Given the description of an element on the screen output the (x, y) to click on. 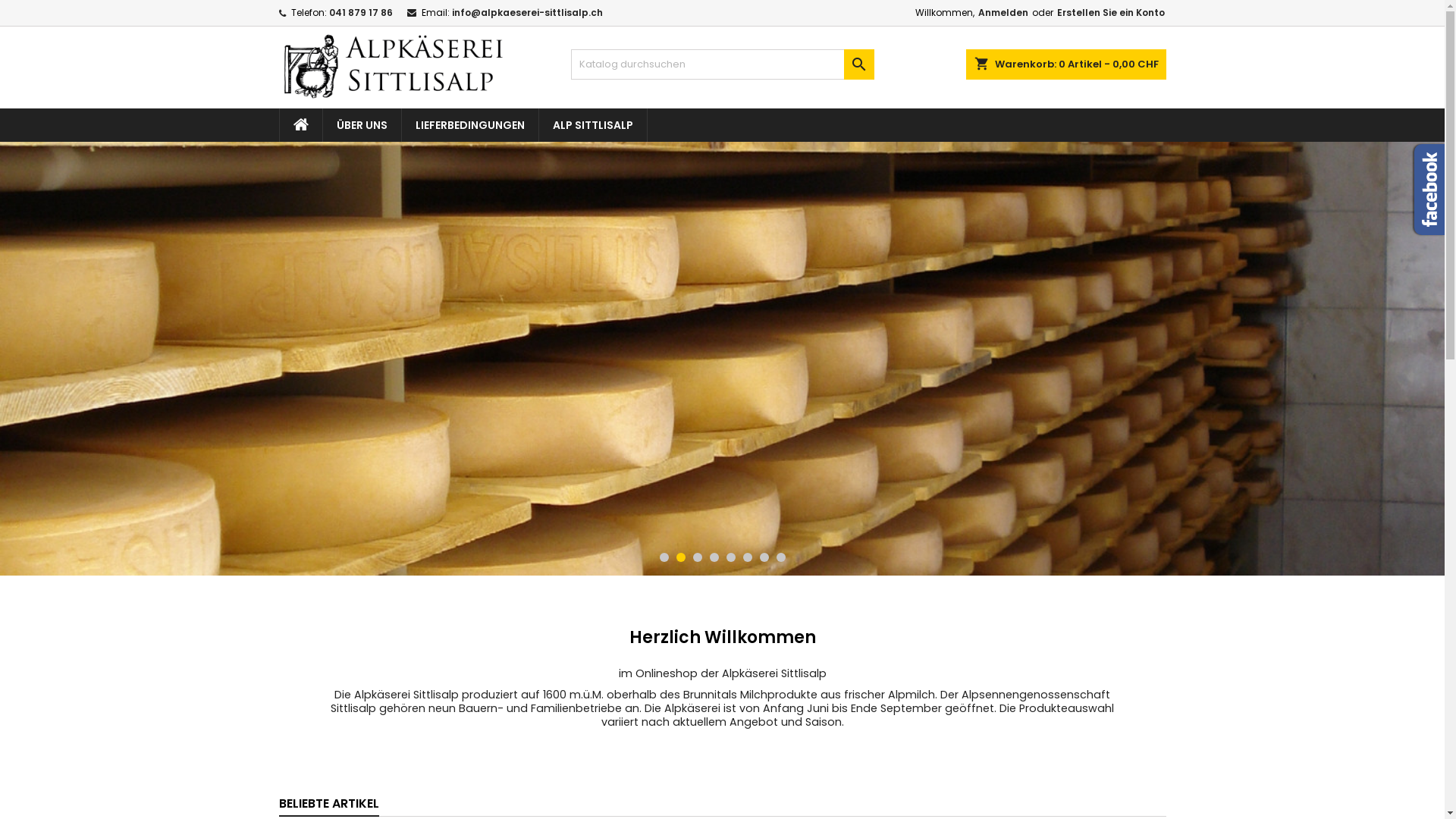
Anmelden Element type: text (1002, 12)
3 Element type: text (697, 556)
6 Element type: text (747, 556)
2 Element type: text (680, 556)
041 879 17 86 Element type: text (360, 12)
7 Element type: text (763, 556)
8 Element type: text (780, 556)
ALP SITTLISALP Element type: text (592, 124)
sample-2 Element type: hover (722, 358)
5 Element type: text (730, 556)
BELIEBTE ARTIKEL Element type: text (329, 804)
shopping_cart
Warenkorb: 0 Artikel - 0,00 CHF Element type: text (1066, 64)
info@alpkaeserei-sittlisalp.ch Element type: text (526, 12)
LIEFERBEDINGUNGEN Element type: text (469, 124)
4 Element type: text (713, 556)
Erstellen Sie ein Konto Element type: text (1110, 12)
1 Element type: text (663, 556)
